Given the description of an element on the screen output the (x, y) to click on. 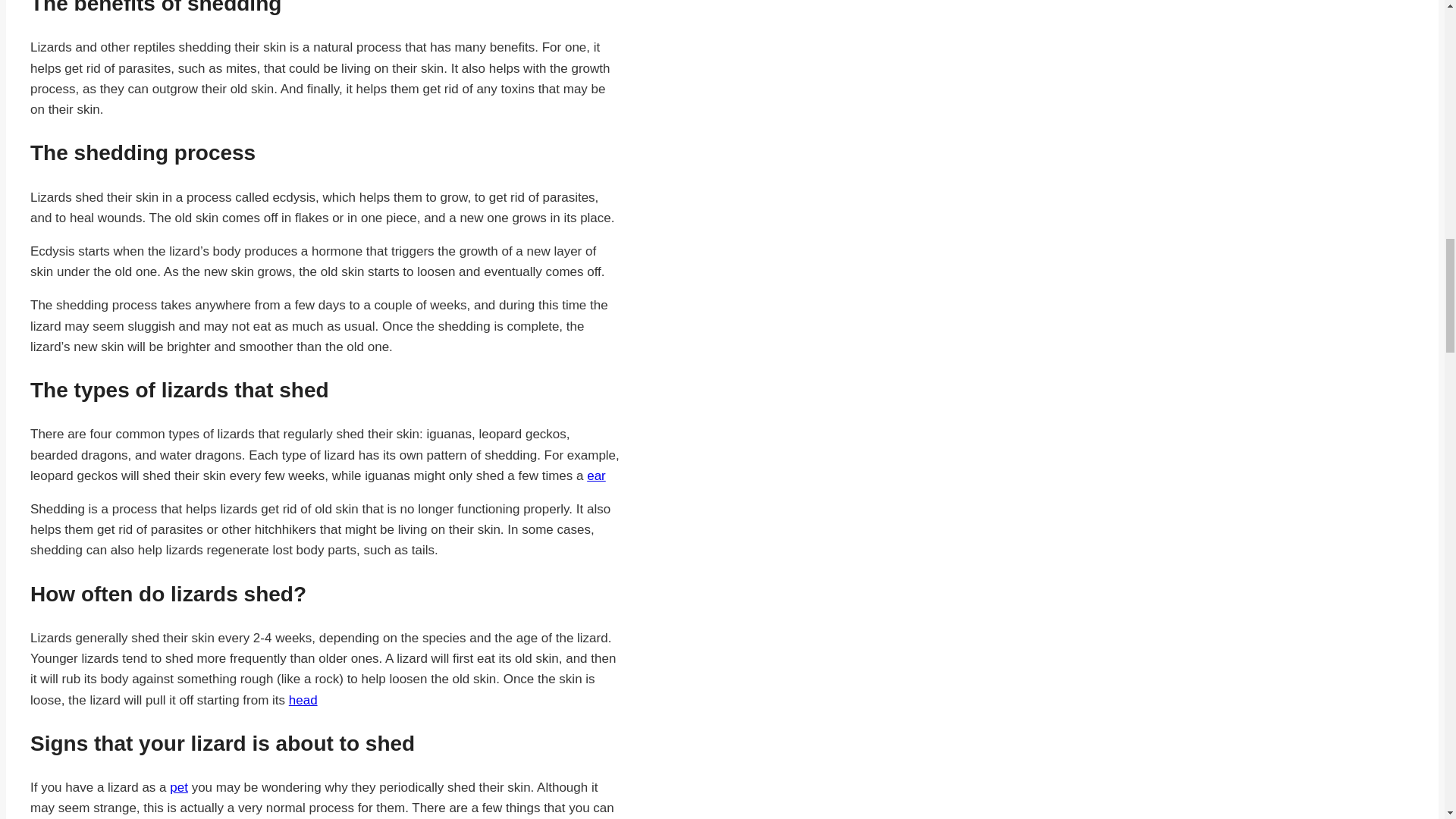
pet (178, 787)
head (302, 699)
ear (595, 475)
